Given the description of an element on the screen output the (x, y) to click on. 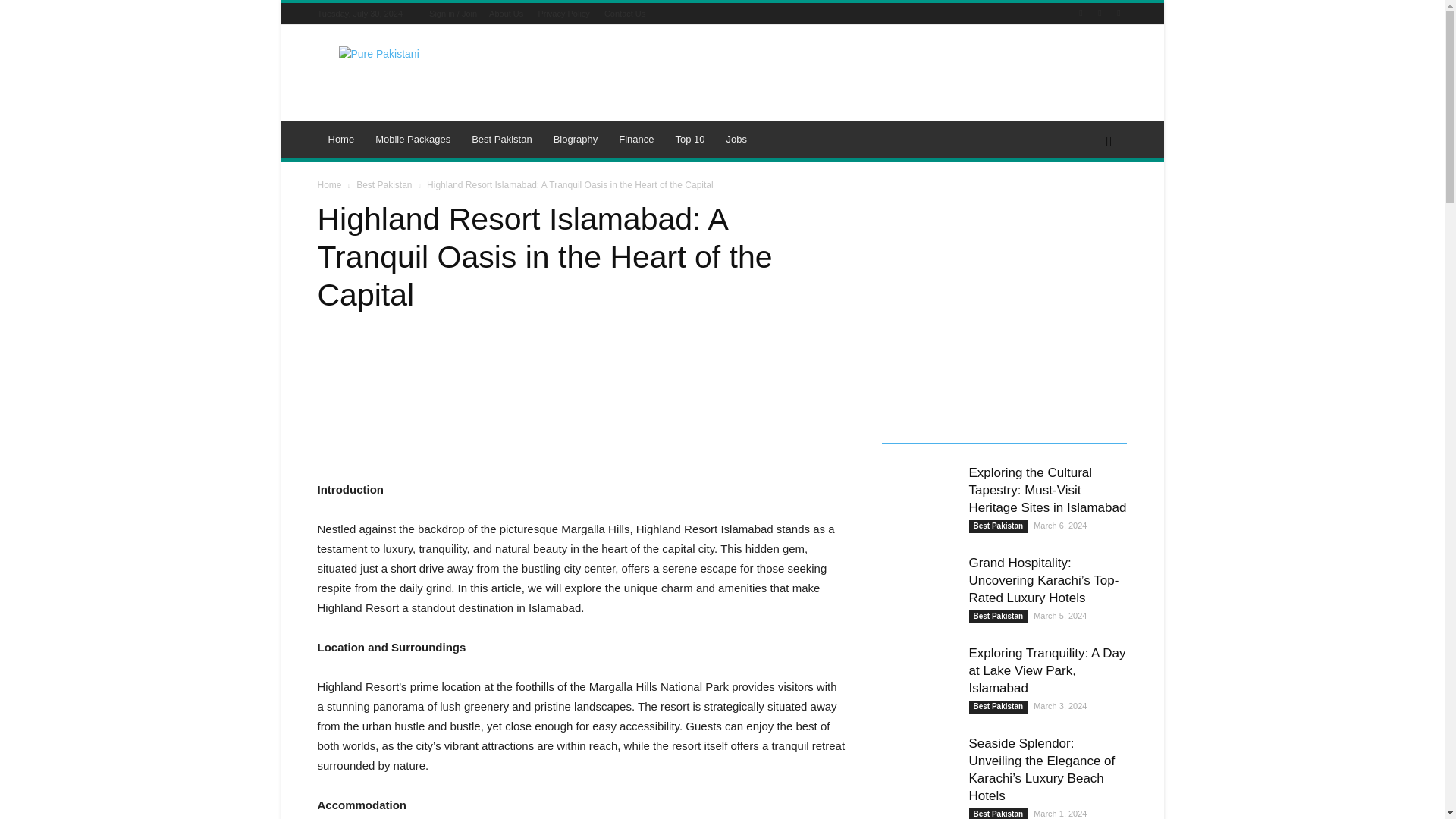
Privacy Policy (563, 13)
Contact Us (624, 13)
Best Pakistan (502, 139)
About Us (505, 13)
Mobile Packages (413, 139)
Pure Pakistani  (445, 79)
Home (341, 139)
